Given the description of an element on the screen output the (x, y) to click on. 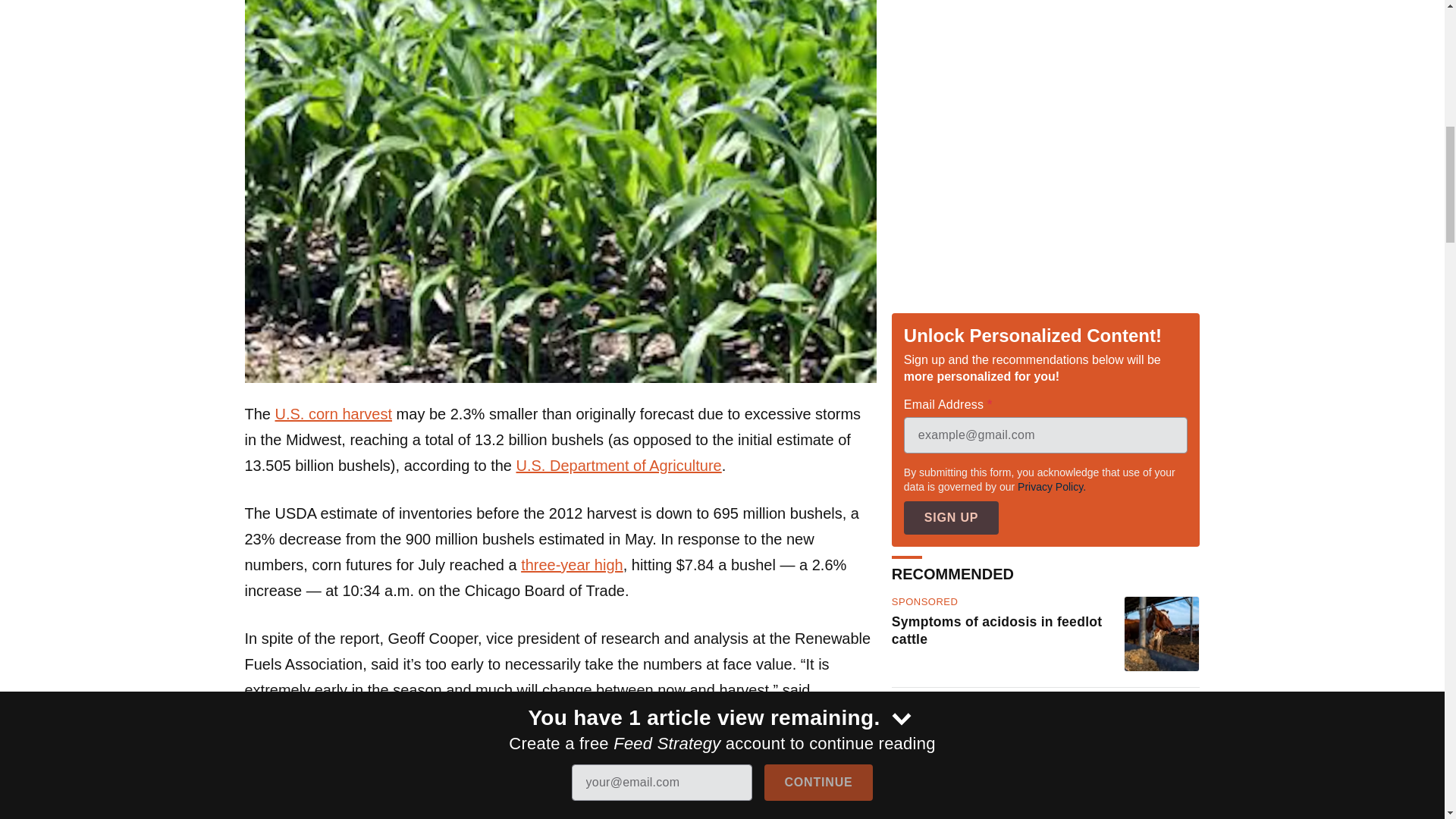
U.S. corn harvest (334, 413)
U.S. Department of Agriculture (619, 465)
Sponsored (924, 602)
three-year high (572, 564)
